Given the description of an element on the screen output the (x, y) to click on. 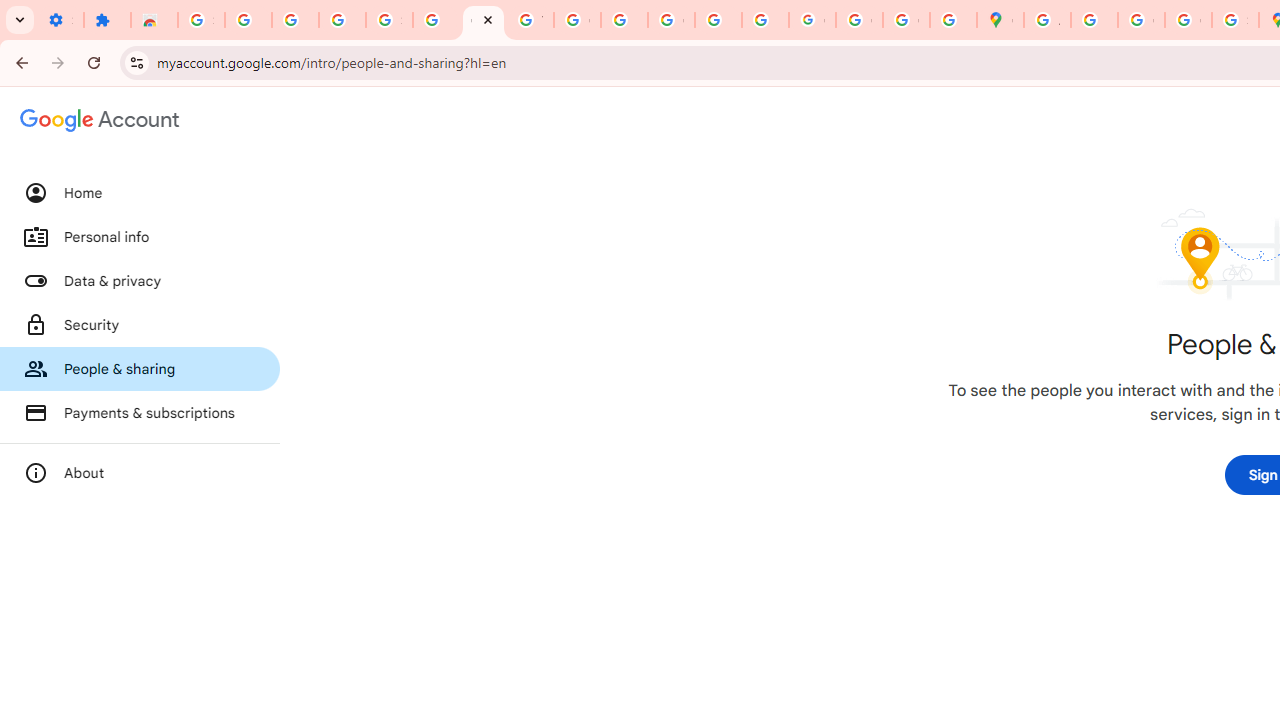
Safety in Our Products - Google Safety Center (1235, 20)
Security (140, 325)
Payments & subscriptions (140, 412)
Delete photos & videos - Computer - Google Photos Help (248, 20)
